Given the description of an element on the screen output the (x, y) to click on. 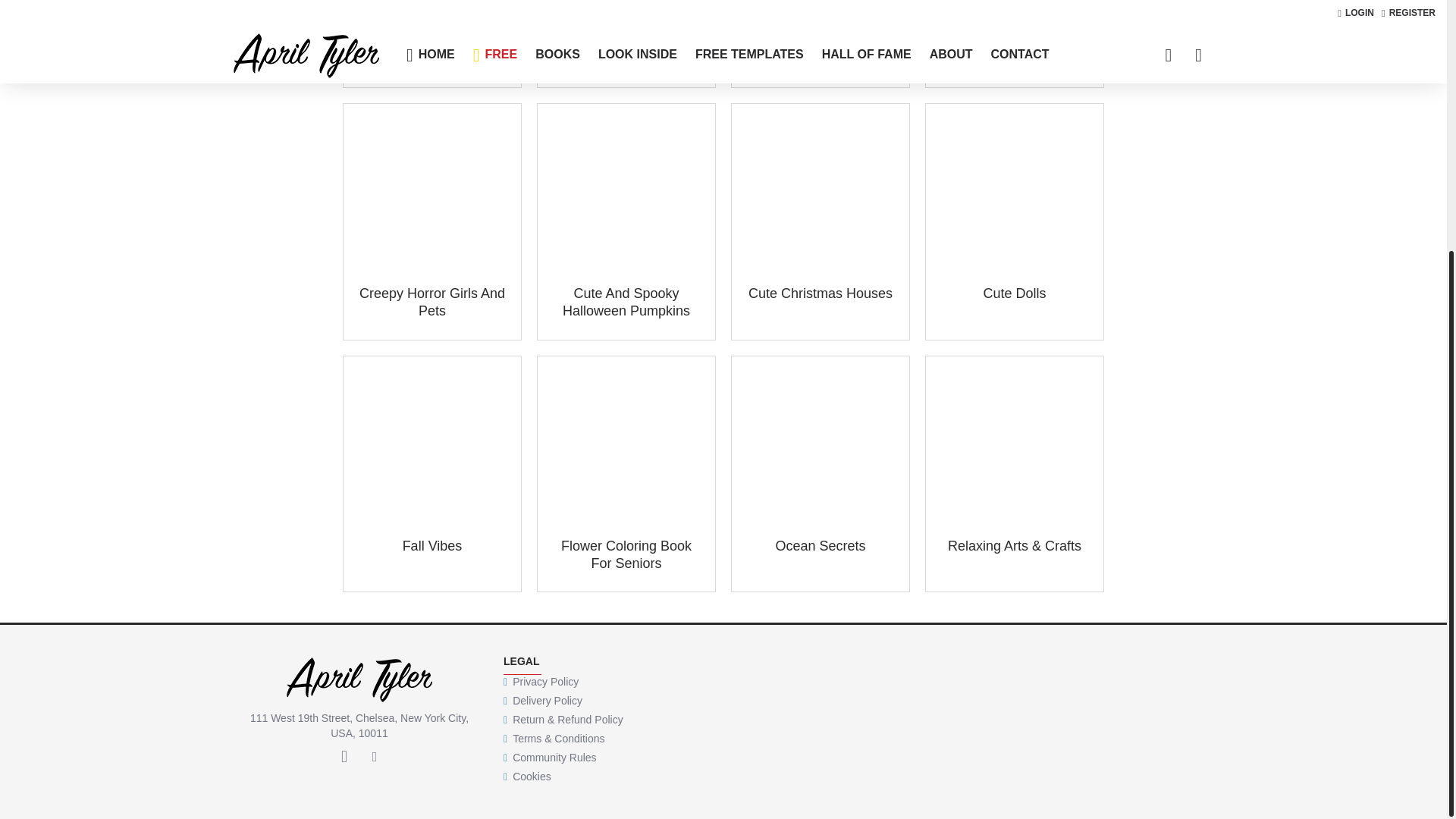
Creepy Horror Girls And Pets (432, 303)
100 Large Print Easy Birds (432, 49)
100 Large Print Easy Flowers (625, 49)
Cat Mom Life (1014, 40)
Autumn Calm (819, 40)
Cute And Spooky Halloween Pumpkins (625, 303)
Cute Christmas Houses (820, 293)
